Given the description of an element on the screen output the (x, y) to click on. 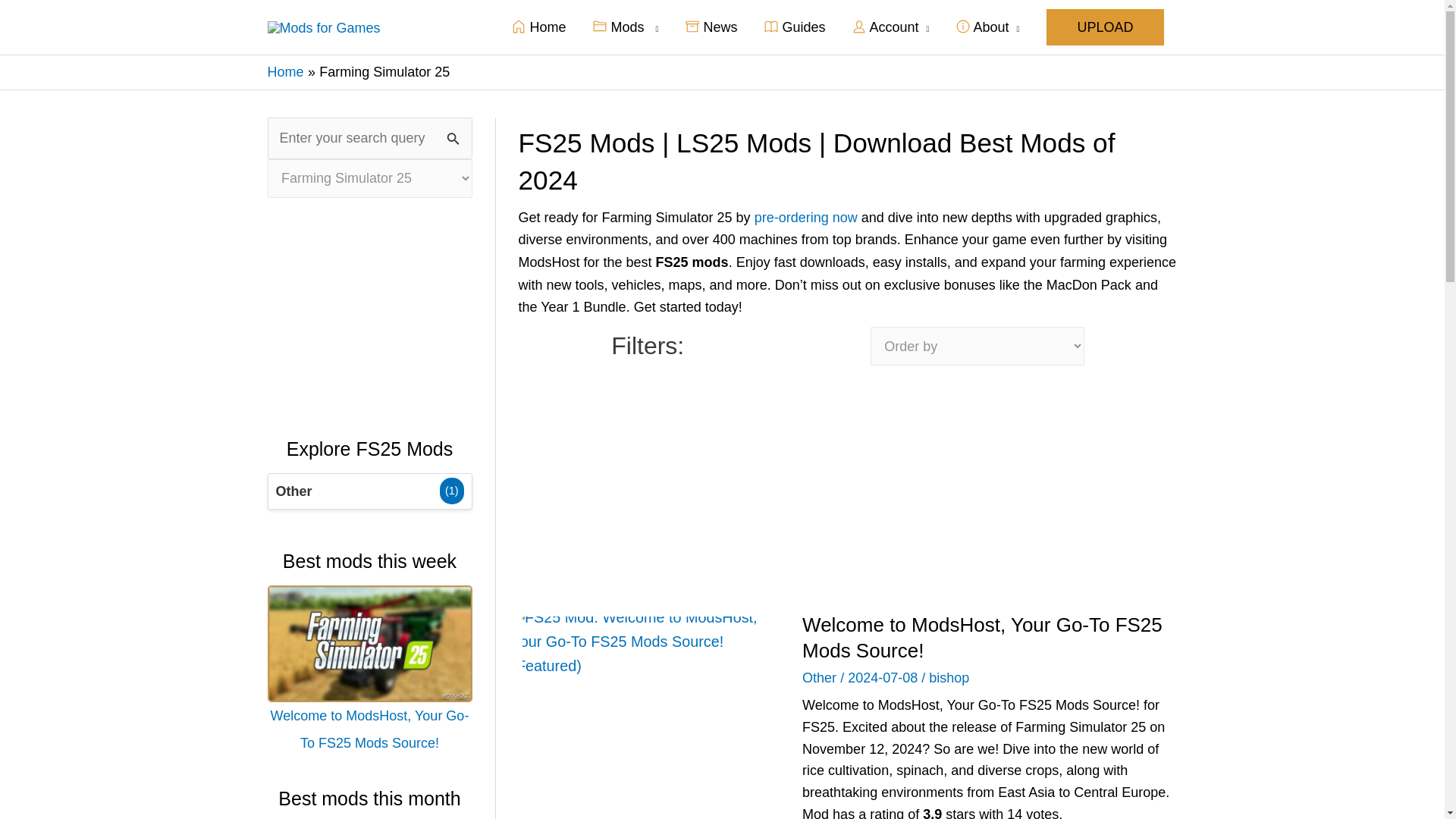
Browse other mods for Farming Simulator 25 (368, 491)
News (711, 27)
Mods (625, 27)
Guides (794, 27)
UPLOAD (1104, 27)
Home (284, 71)
About (987, 27)
View all posts by bishop (948, 677)
Home (538, 27)
Account (890, 27)
